Given the description of an element on the screen output the (x, y) to click on. 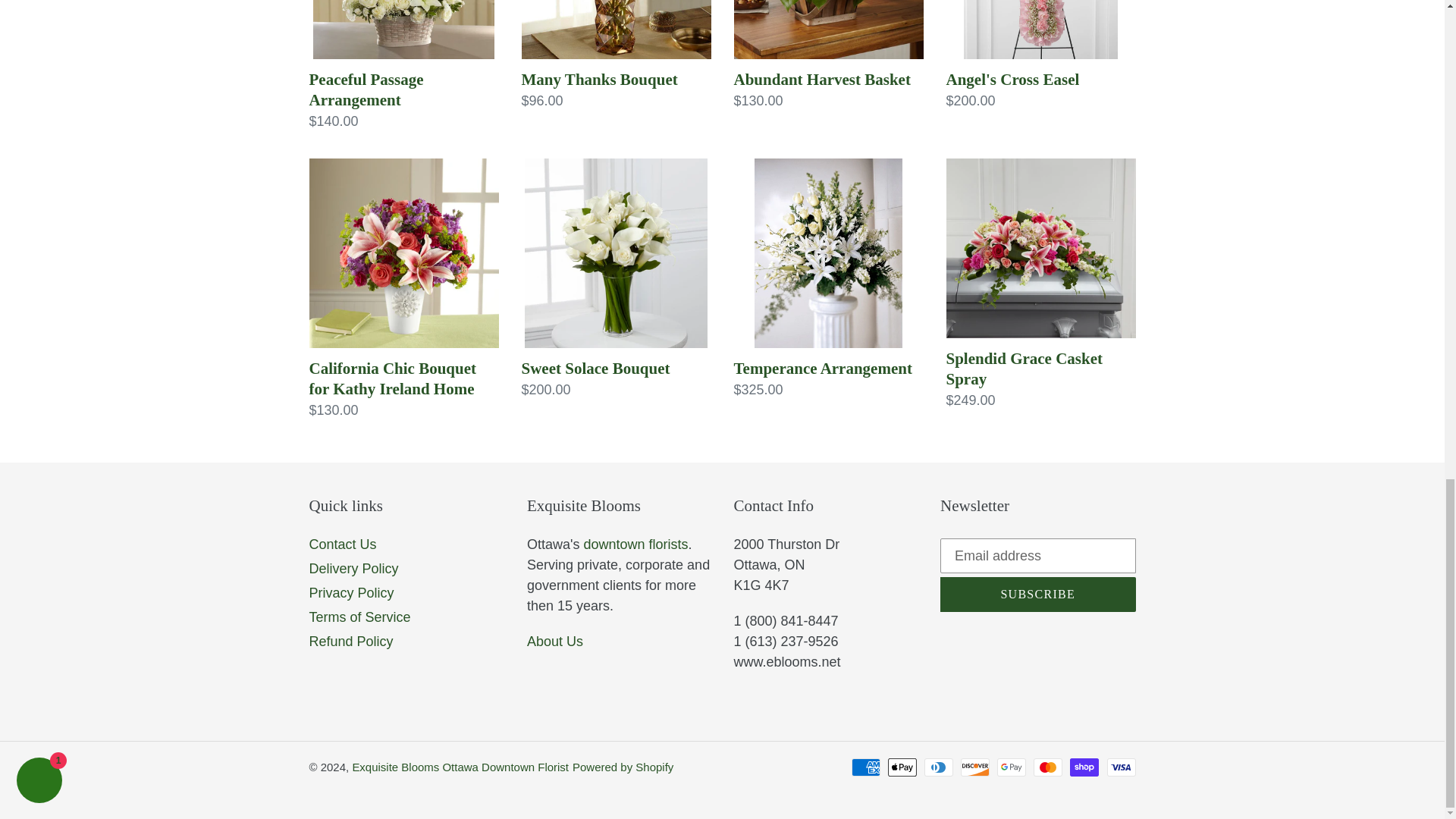
About Us (555, 641)
Peaceful Passage Arrangement (403, 65)
